Given the description of an element on the screen output the (x, y) to click on. 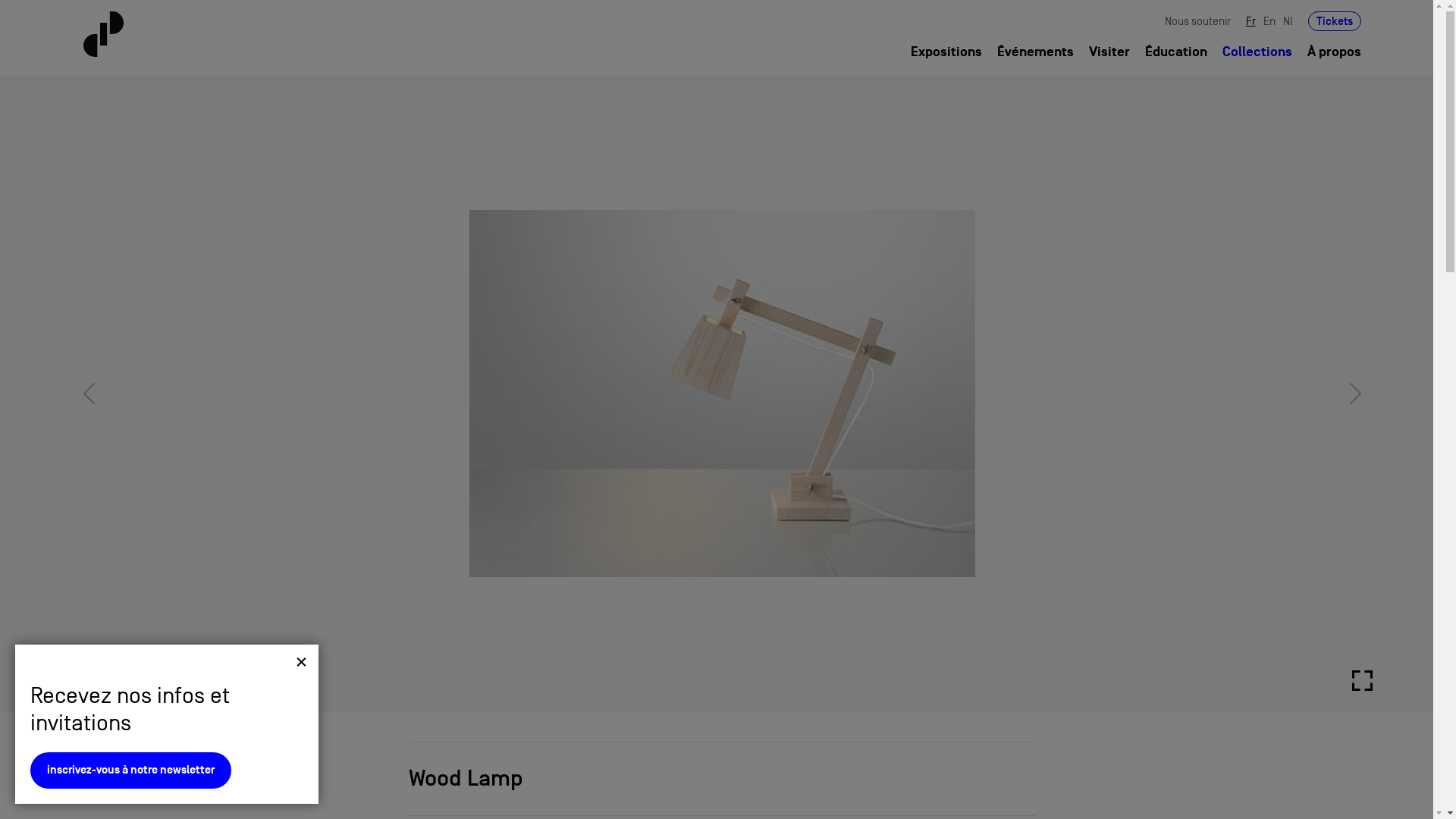
Fr Element type: text (1250, 20)
Close Element type: text (301, 661)
Back to homepage Element type: hover (189, 33)
Tickets Element type: text (1334, 21)
Collections Element type: text (130, 780)
Nous soutenir Element type: text (1197, 20)
Visiter Element type: text (1108, 51)
Nl Element type: text (1287, 20)
Expositions Element type: text (946, 51)
En Element type: text (1269, 20)
Collections Element type: text (1257, 51)
